Given the description of an element on the screen output the (x, y) to click on. 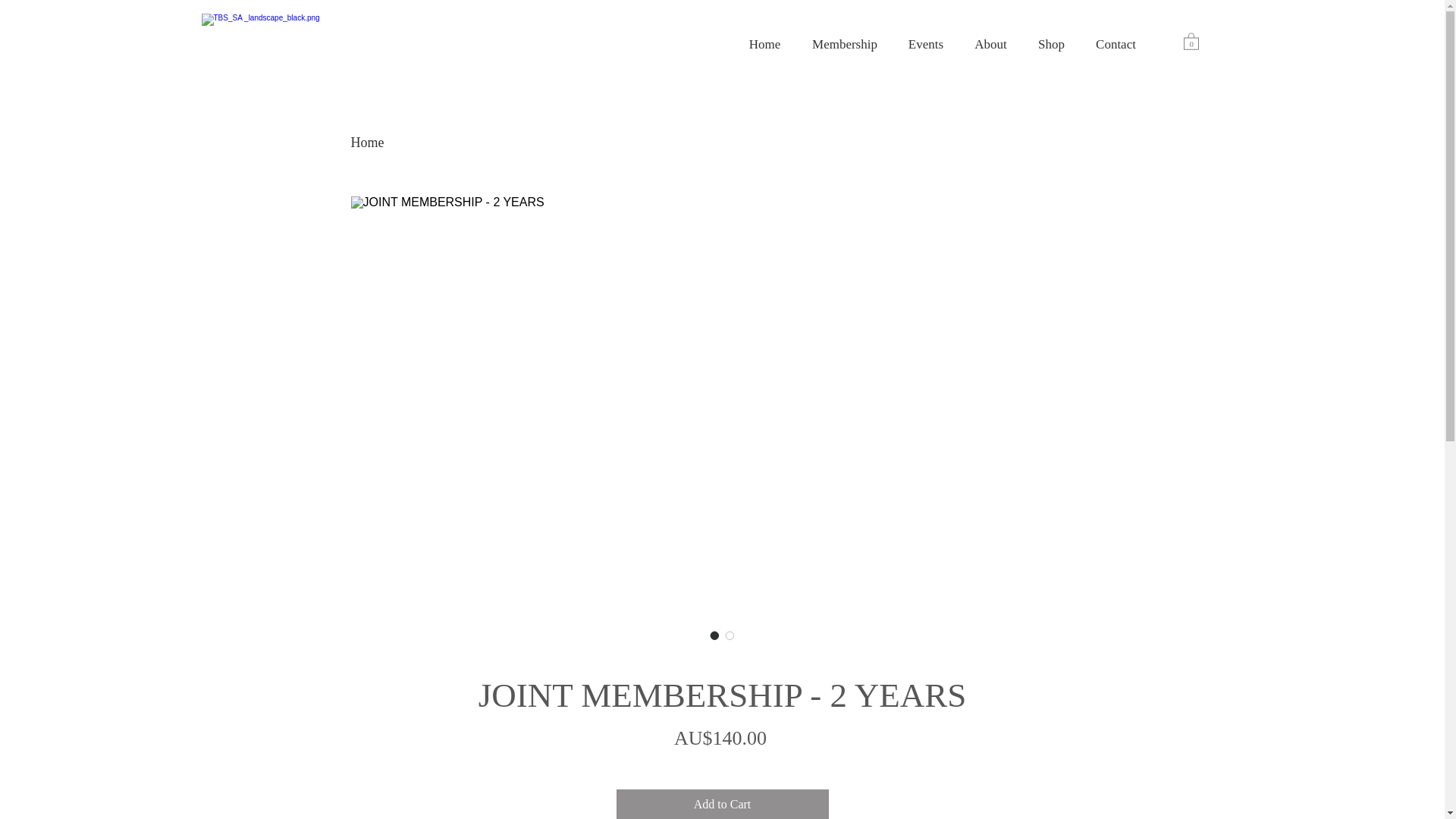
Membership Element type: text (844, 44)
About Element type: text (990, 44)
Home Element type: text (366, 142)
Events Element type: text (926, 44)
Home Element type: text (764, 44)
0 Element type: text (1190, 40)
Contact Element type: text (1115, 44)
Shop Element type: text (1050, 44)
